Given the description of an element on the screen output the (x, y) to click on. 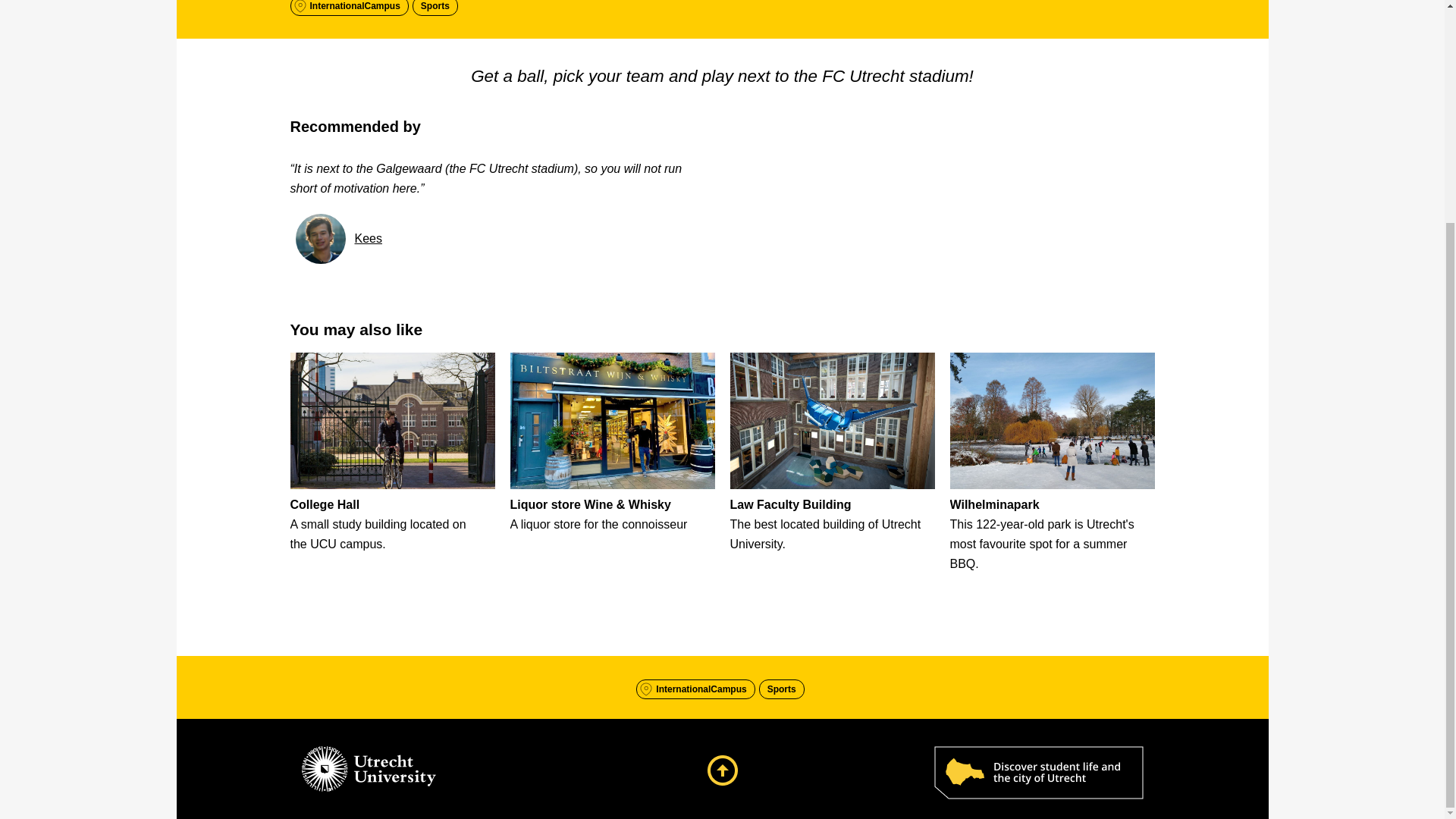
Law Faculty Building (789, 504)
Sports (435, 7)
Wilhelminapark (994, 504)
InternationalCampus (354, 7)
College Hall (324, 504)
Sports (781, 689)
Kees (368, 237)
InternationalCampus (700, 689)
